Given the description of an element on the screen output the (x, y) to click on. 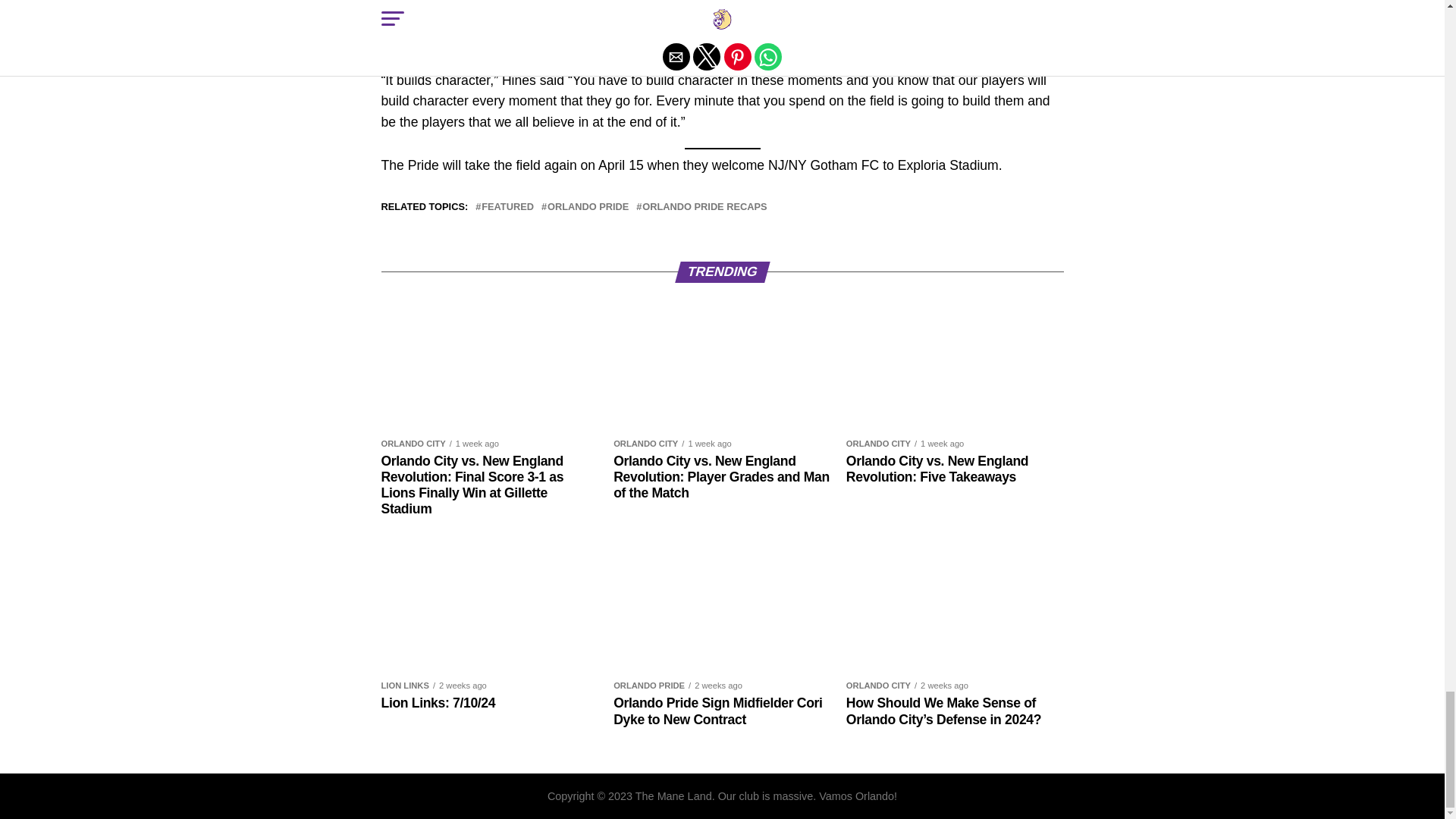
ORLANDO PRIDE (587, 207)
FEATURED (507, 207)
ORLANDO PRIDE RECAPS (704, 207)
